Given the description of an element on the screen output the (x, y) to click on. 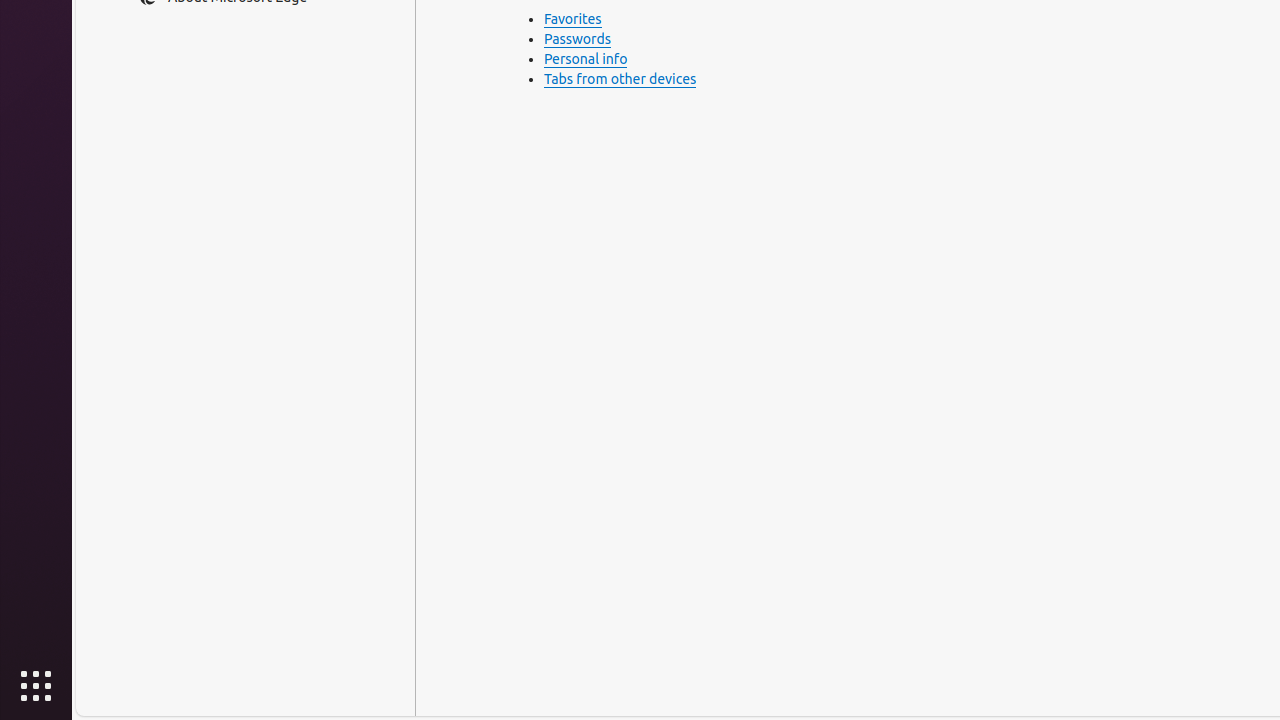
Show Applications Element type: toggle-button (36, 686)
Personal info Element type: link (586, 59)
Passwords Element type: link (577, 39)
Tabs from other devices Element type: link (620, 79)
